Given the description of an element on the screen output the (x, y) to click on. 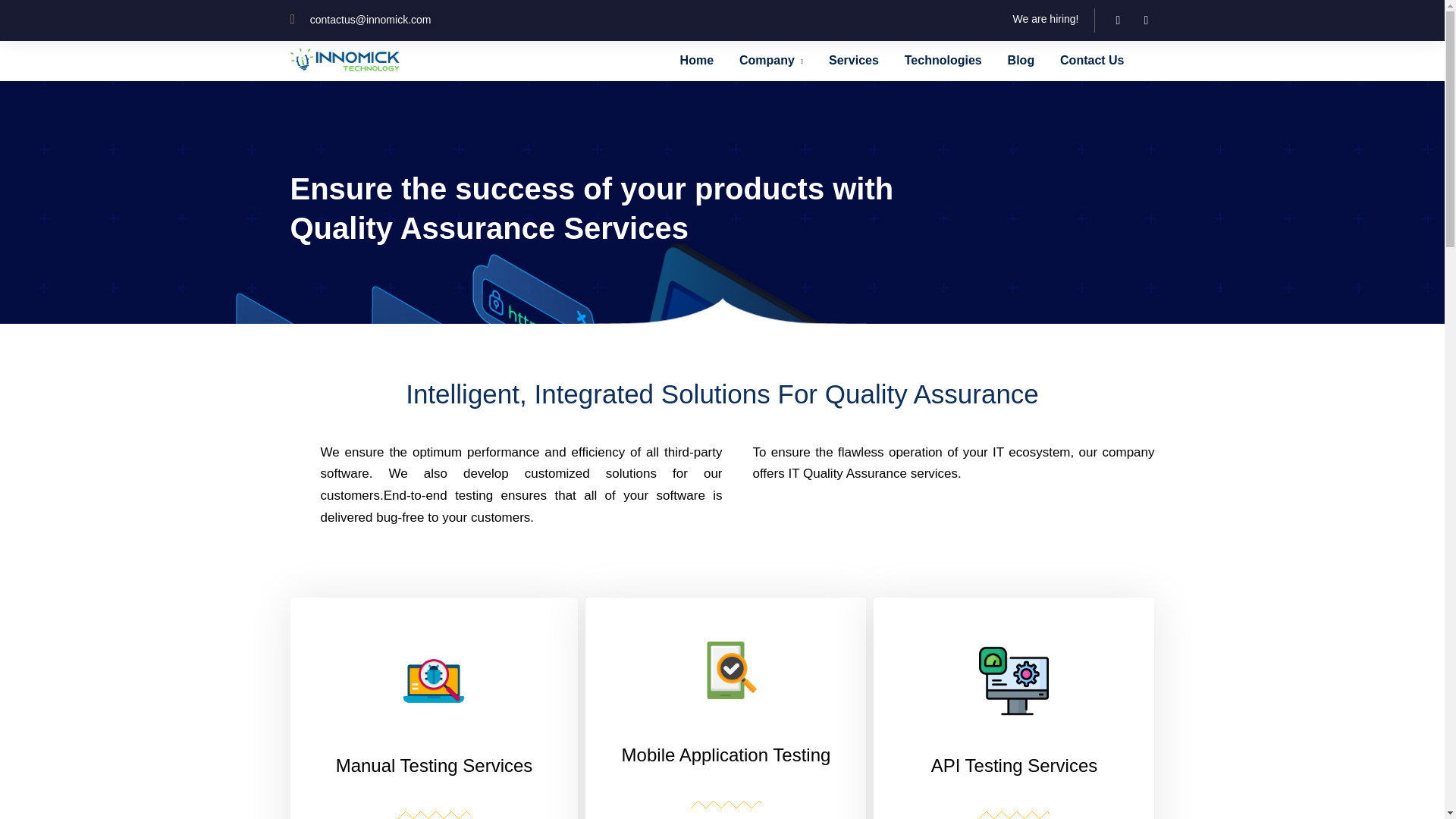
Contact Us (1091, 59)
Company (771, 61)
Blog (1021, 59)
Home (696, 59)
Technologies (942, 59)
We are hiring! (1045, 19)
Services (853, 59)
